Given the description of an element on the screen output the (x, y) to click on. 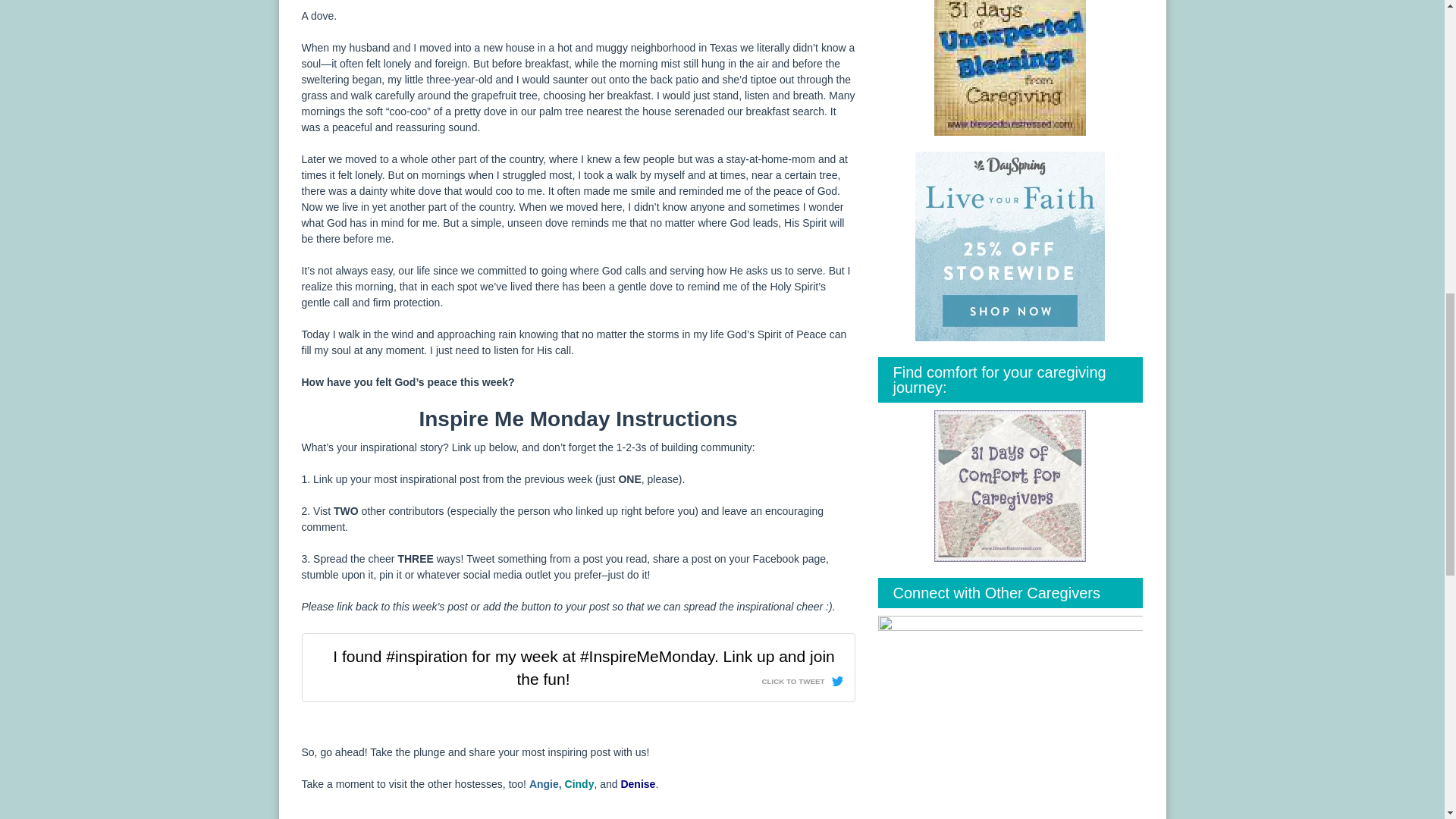
Cindy (579, 784)
Denise J Hughes (637, 784)
CLICK TO TWEET (802, 677)
Denise (637, 784)
Cindy Krall (579, 784)
Angie, (545, 784)
Angie (545, 784)
